Given the description of an element on the screen output the (x, y) to click on. 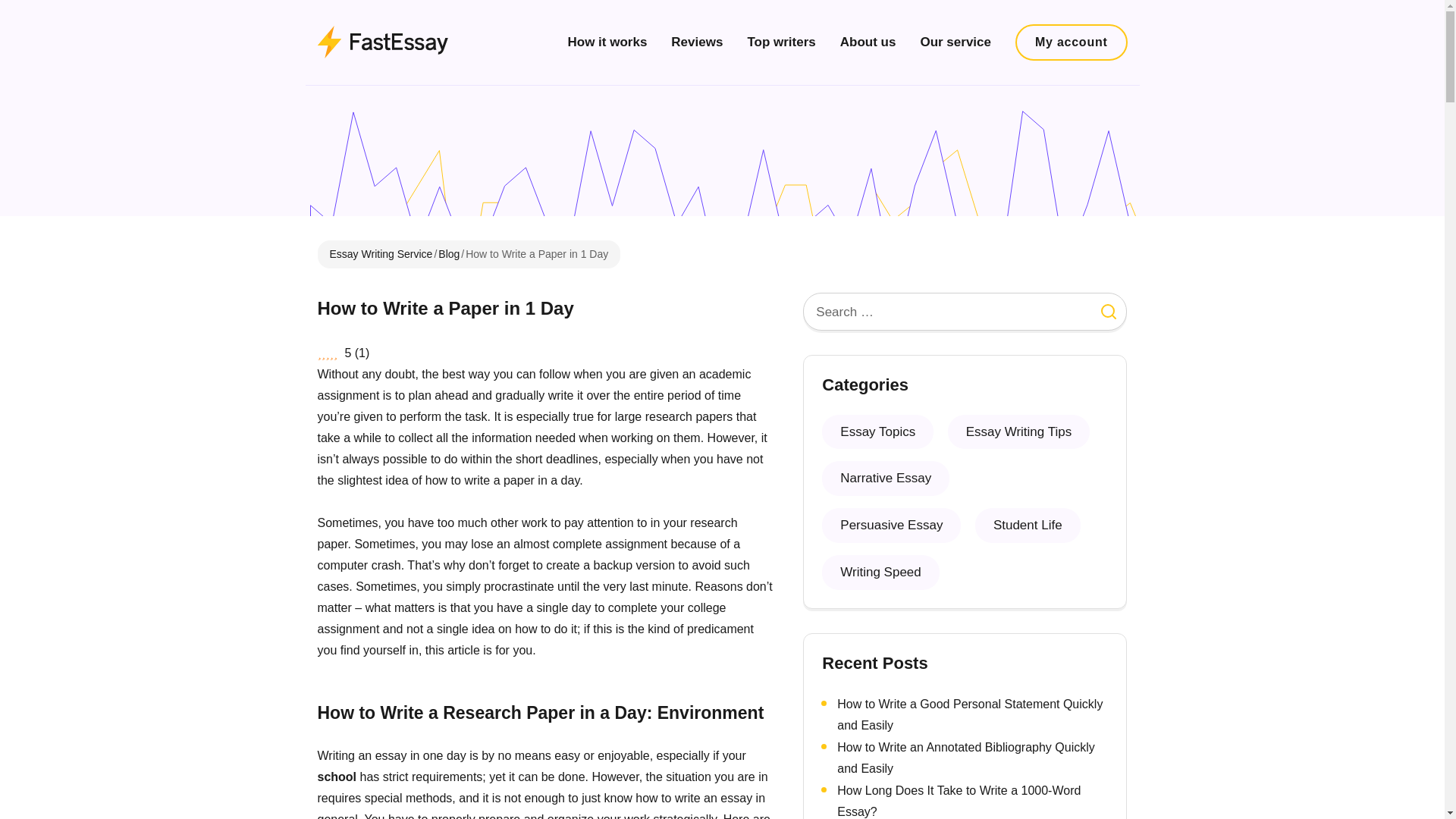
Blog (449, 254)
How it works (606, 42)
Narrative Essay (885, 478)
Reviews (696, 42)
Writing Speed (880, 572)
How to Write an Annotated Bibliography Quickly and Easily (965, 756)
Top writers (780, 42)
Student Life (1027, 524)
Essay Topics (877, 431)
SEARCH (1108, 311)
How to Write a Good Personal Statement Quickly and Easily (969, 714)
About us (868, 42)
How Long Does It Take to Write a 1000-Word Essay? (958, 800)
Essay Writing Tips (1018, 431)
My account (1070, 42)
